Given the description of an element on the screen output the (x, y) to click on. 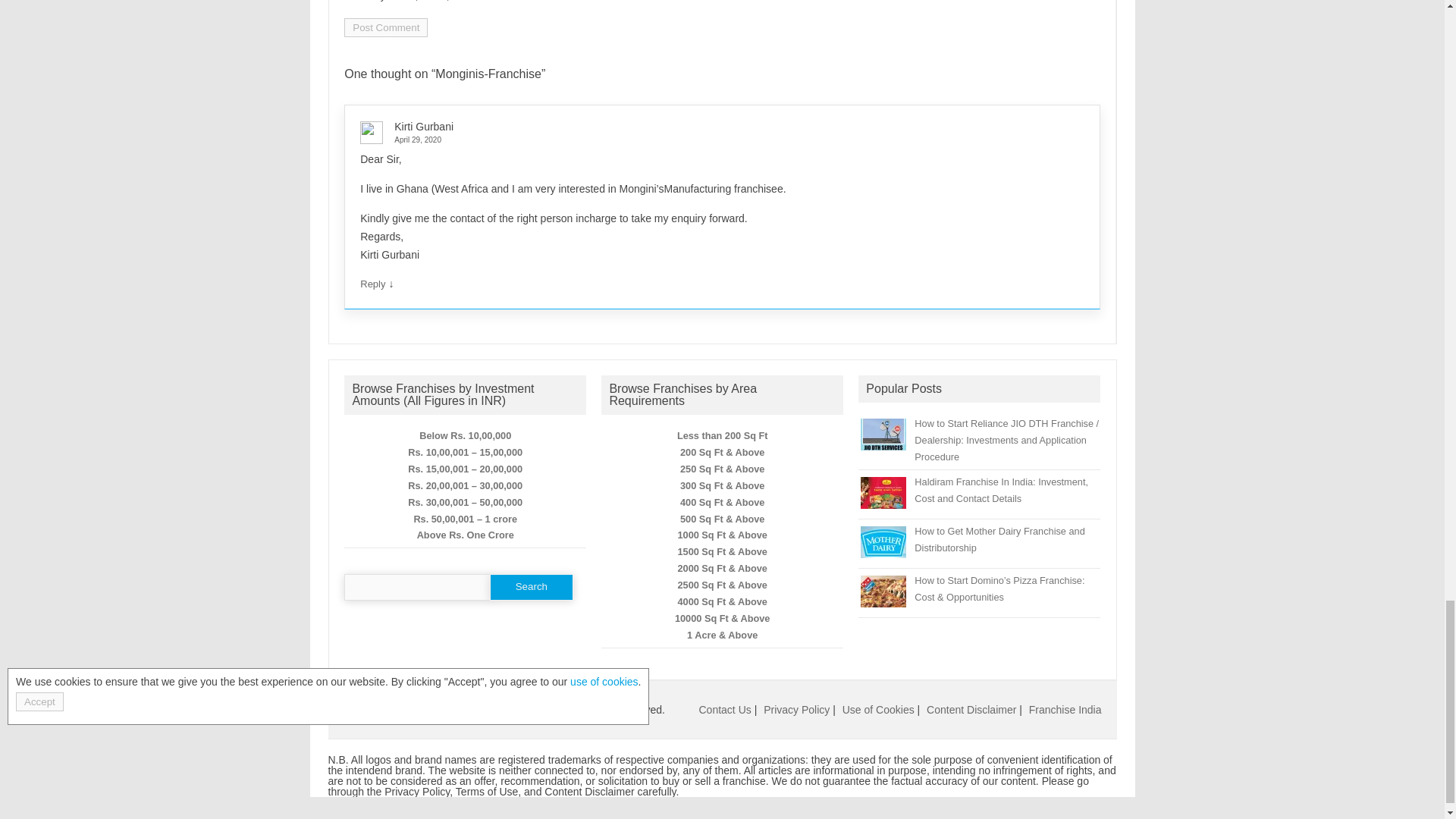
Post Comment (385, 27)
Reply (372, 283)
Above Rs. One Crore (464, 534)
Less than 200 Sq Ft (722, 435)
April 29, 2020 (715, 139)
Search (530, 587)
Post Comment (385, 27)
Kirti Gurbani (423, 126)
Below Rs. 10,00,000 (465, 435)
Search (530, 587)
